Given the description of an element on the screen output the (x, y) to click on. 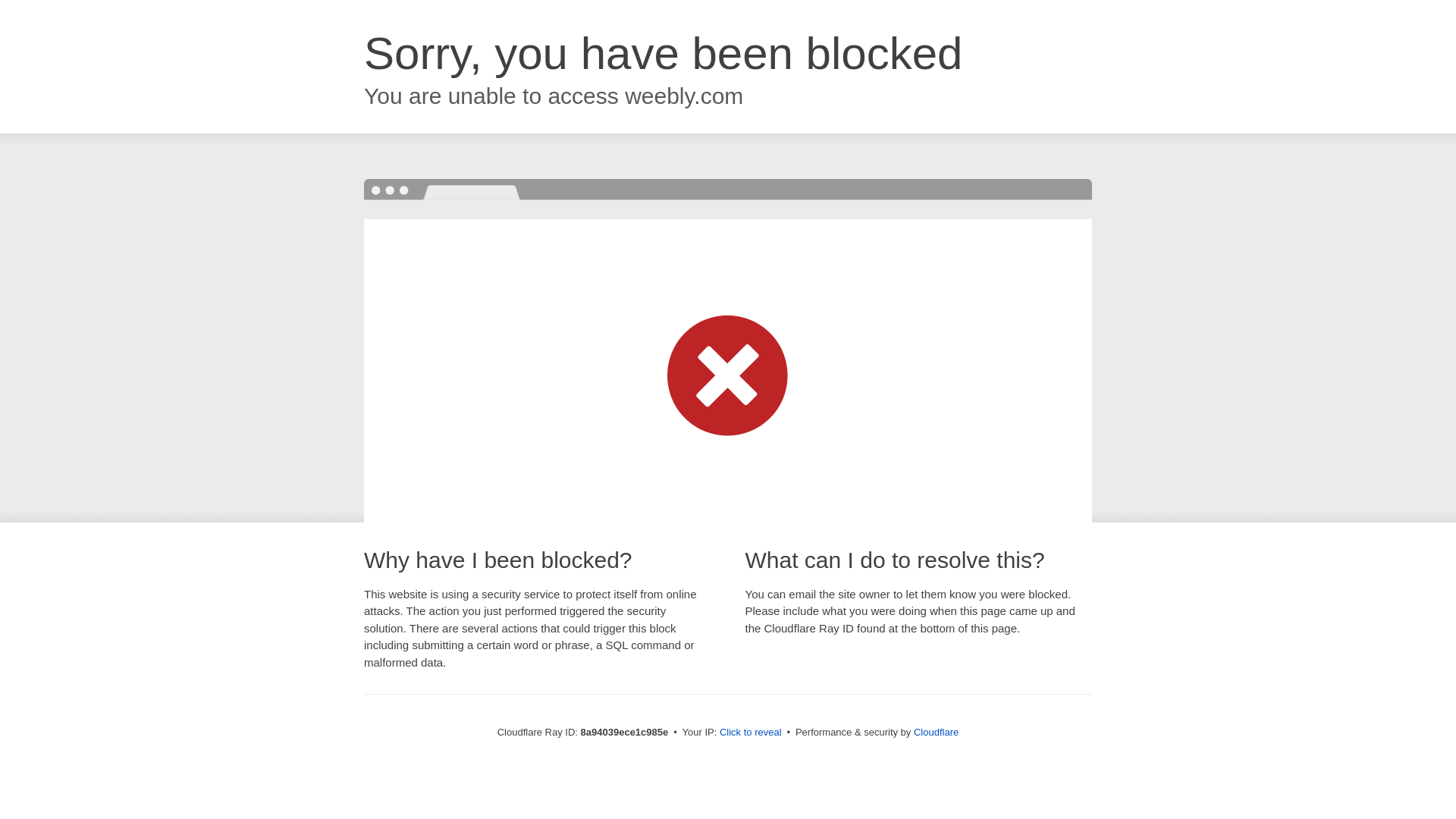
Cloudflare (936, 731)
Click to reveal (750, 732)
